Given the description of an element on the screen output the (x, y) to click on. 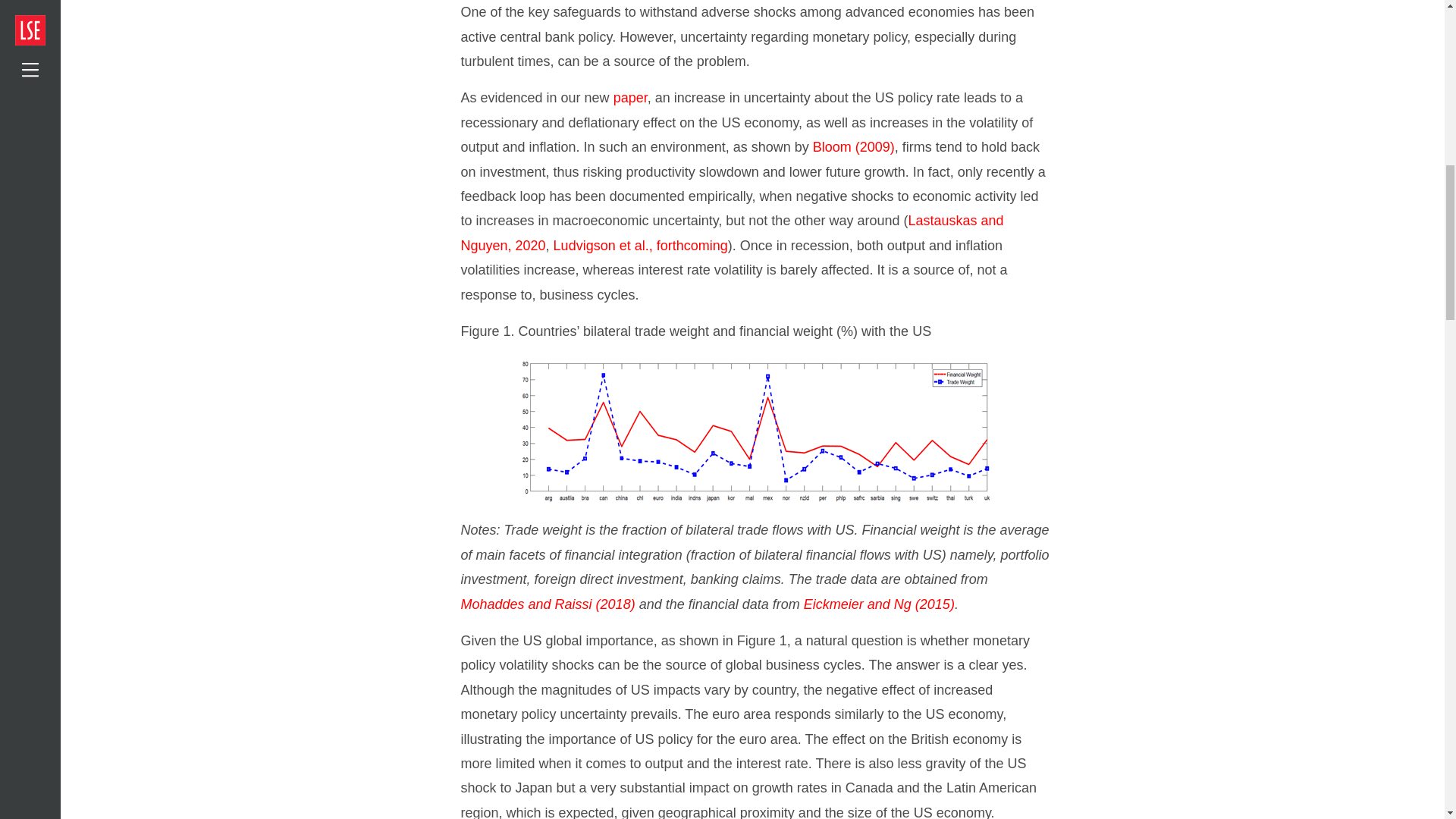
paper (629, 97)
Lastauskas and Nguyen, 2020 (732, 232)
Ludvigson et al., forthcoming (640, 245)
